Given the description of an element on the screen output the (x, y) to click on. 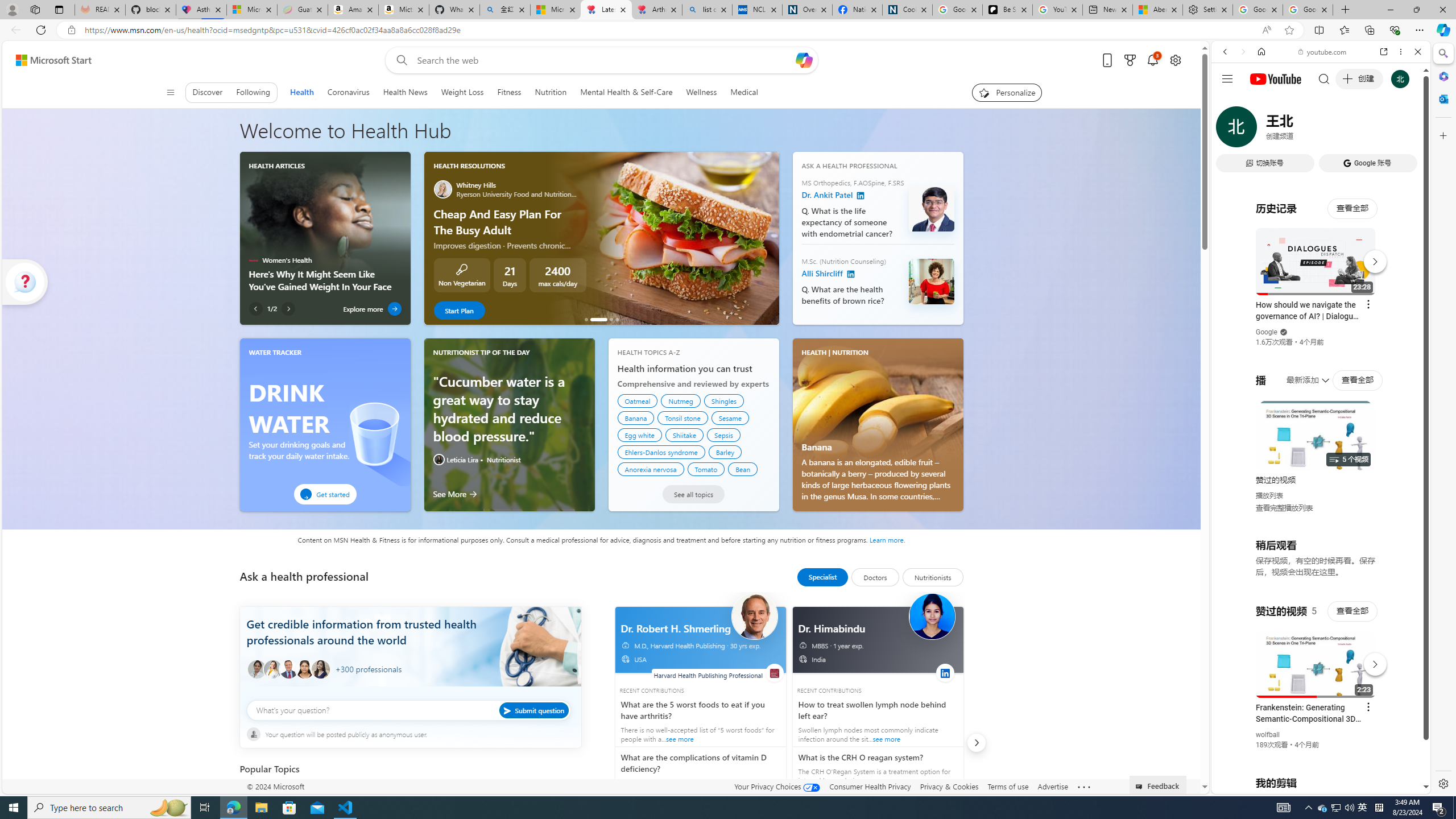
Previous Article (255, 308)
Class: control icon-only (170, 92)
To get missing image descriptions, open the context menu. (509, 424)
Shiitake (684, 435)
Aberdeen, Hong Kong SAR hourly forecast | Microsoft Weather (1158, 9)
Barley (724, 451)
Health News (405, 92)
Health professional icon - Dr. Himabindu  (931, 615)
linkedin (944, 672)
Web search (398, 60)
